Given the description of an element on the screen output the (x, y) to click on. 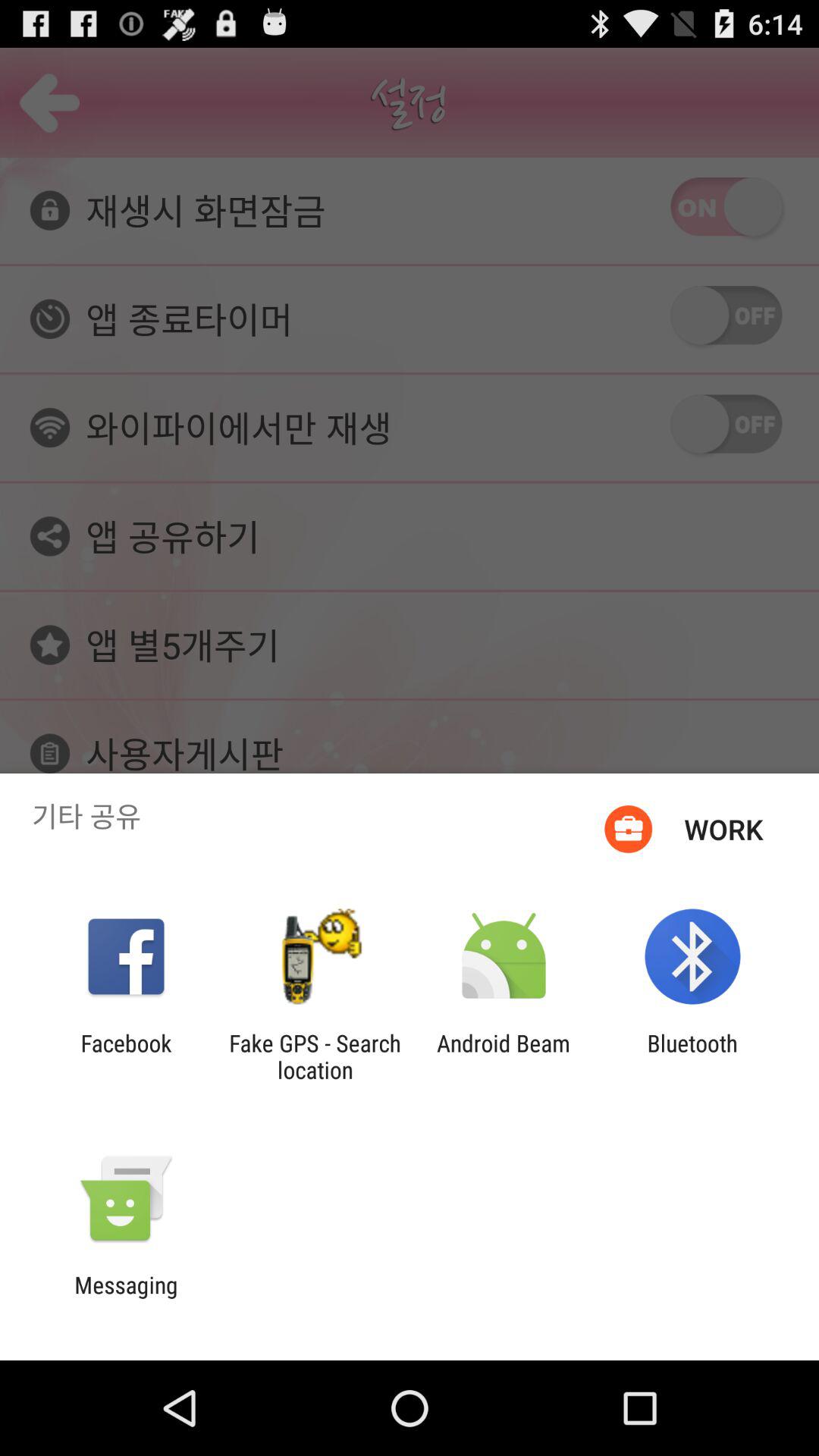
click the facebook item (125, 1056)
